Given the description of an element on the screen output the (x, y) to click on. 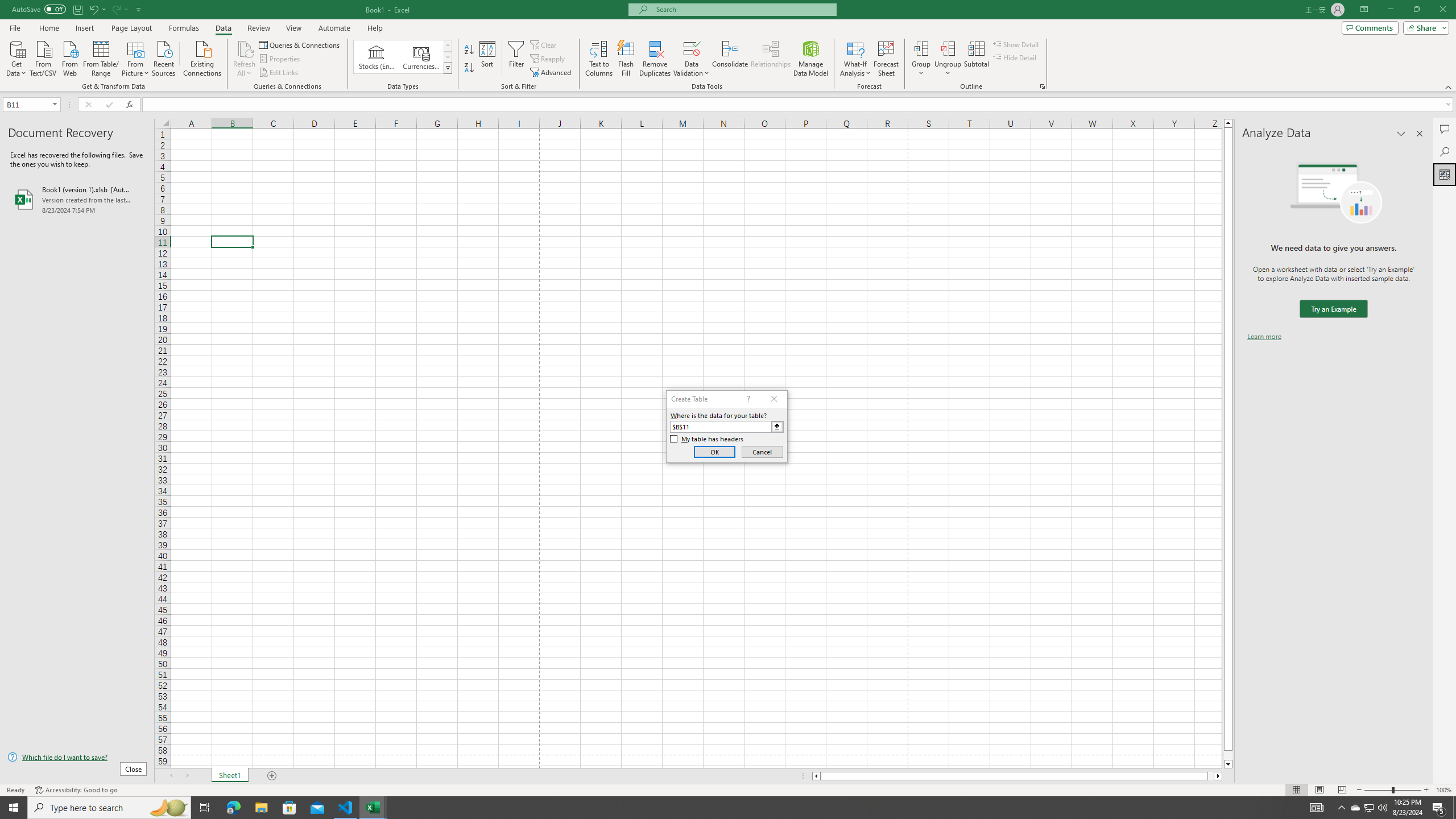
Filter (515, 58)
Queries & Connections (300, 44)
Flash Fill (625, 58)
Show Detail (1016, 44)
Sort... (487, 58)
What-If Analysis (855, 58)
AutomationID: ConvertToLinkedEntity (403, 56)
Learn more (1264, 336)
